Given the description of an element on the screen output the (x, y) to click on. 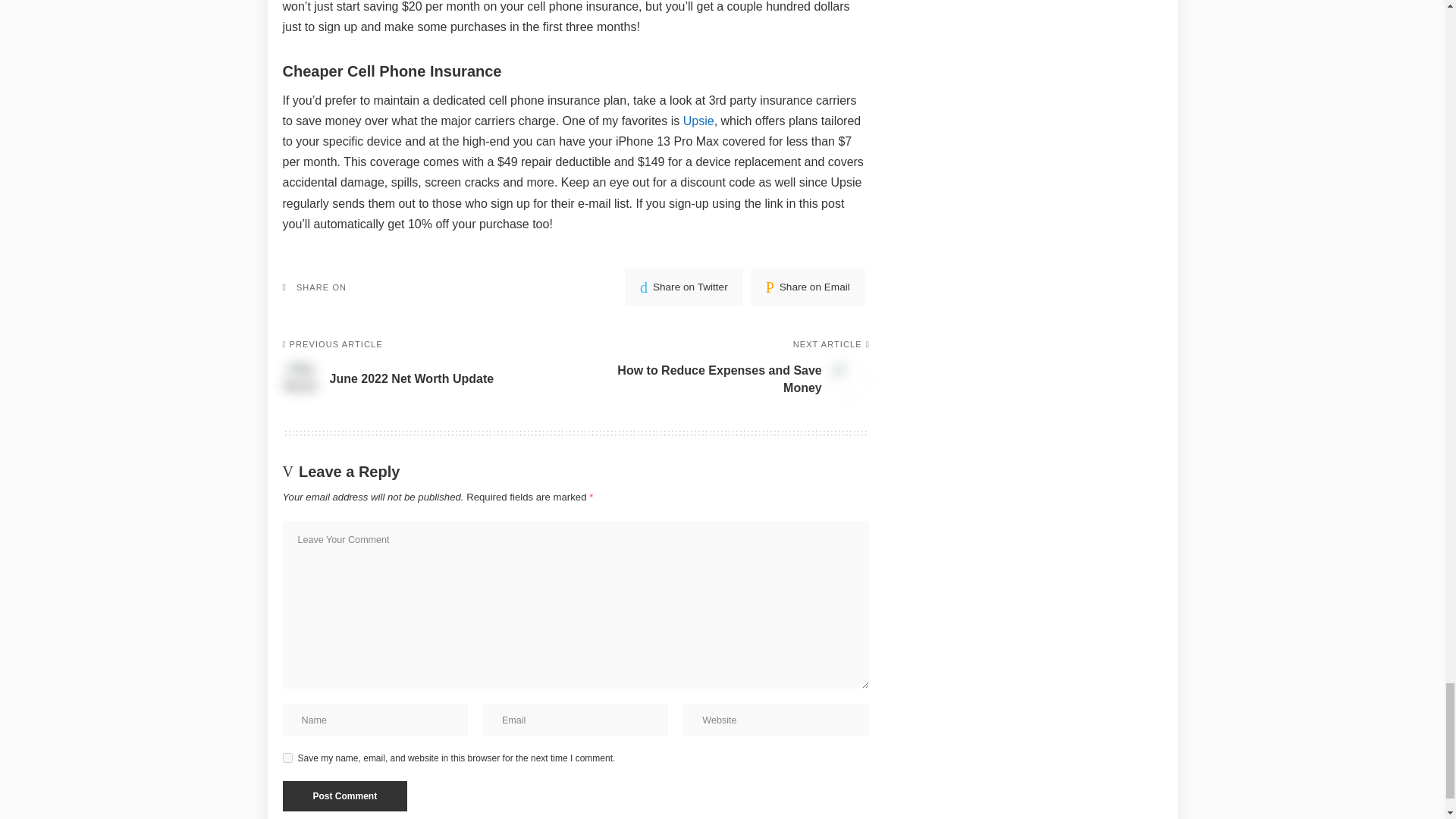
Email (807, 287)
Post Comment (344, 796)
Twitter (683, 287)
yes (287, 757)
Upsie (698, 120)
